Given the description of an element on the screen output the (x, y) to click on. 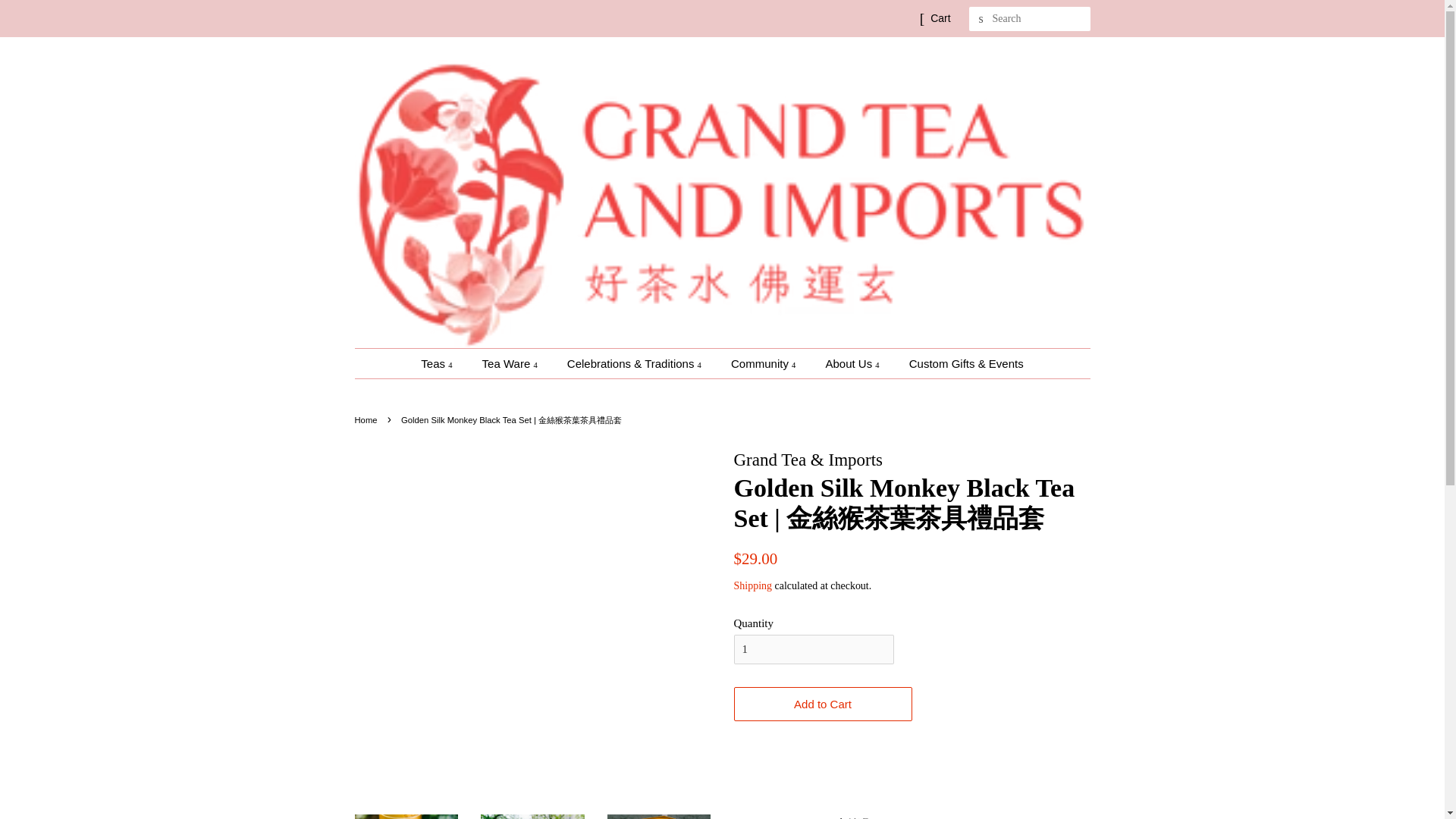
1 (813, 649)
Search (980, 18)
Back to the frontpage (368, 420)
Cart (940, 18)
